Given the description of an element on the screen output the (x, y) to click on. 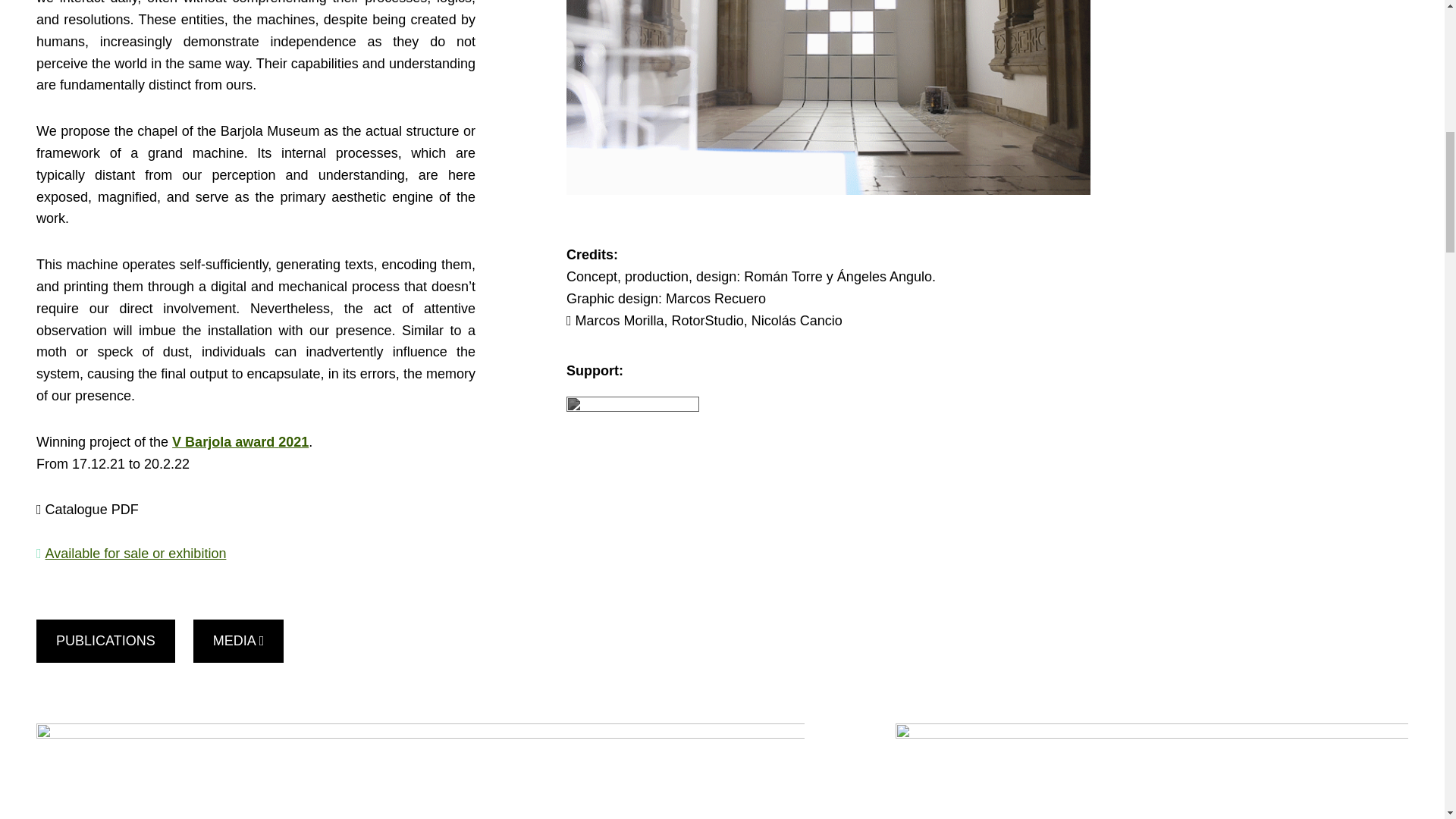
V Barjola award 2021 (239, 441)
MEDIA (238, 640)
PUBLICATIONS (105, 640)
Available for sale or exhibition (136, 553)
